Given the description of an element on the screen output the (x, y) to click on. 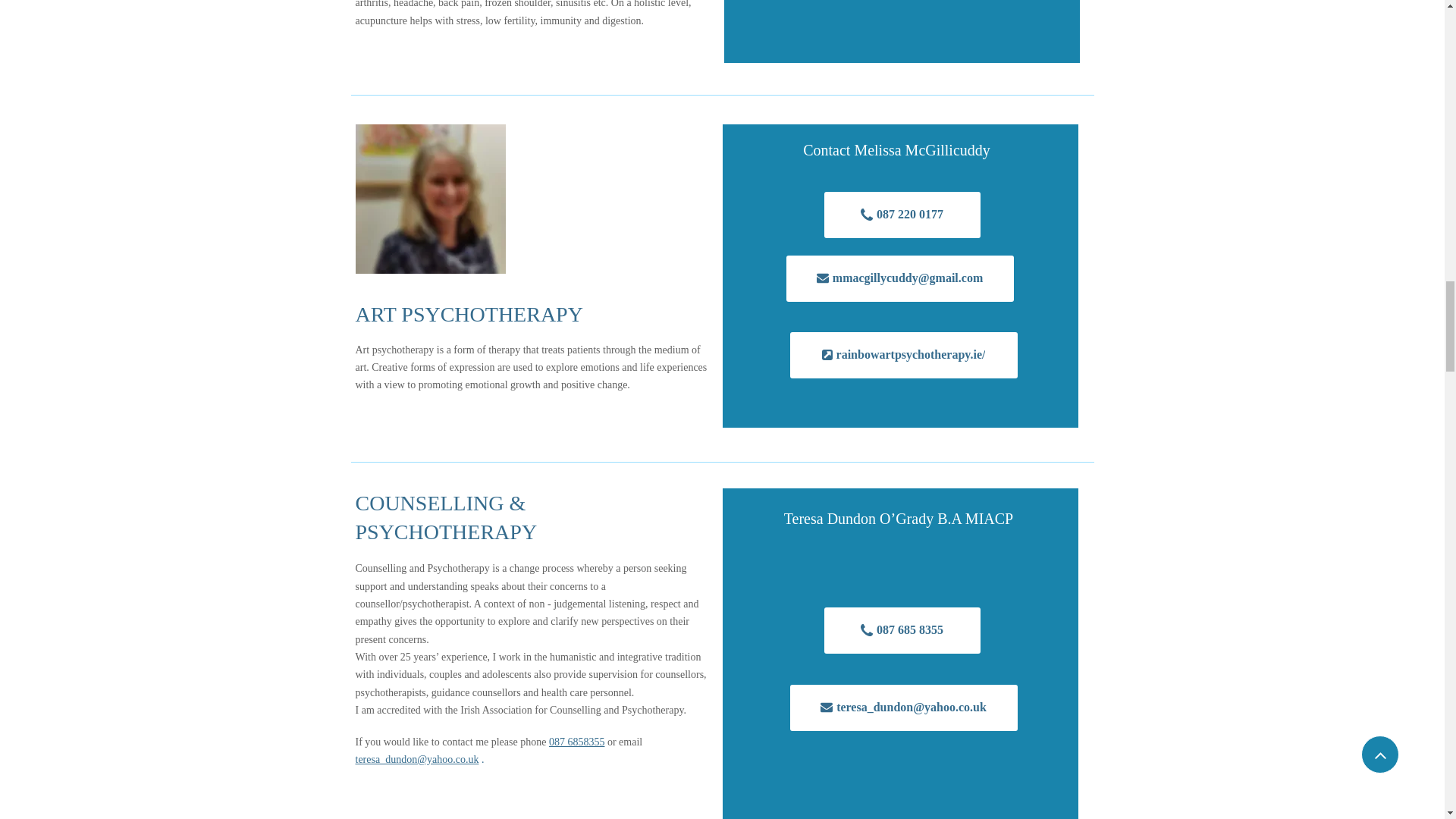
087 220 0177 (901, 214)
087 6858355 (576, 742)
087 685 8355 (901, 630)
